Given the description of an element on the screen output the (x, y) to click on. 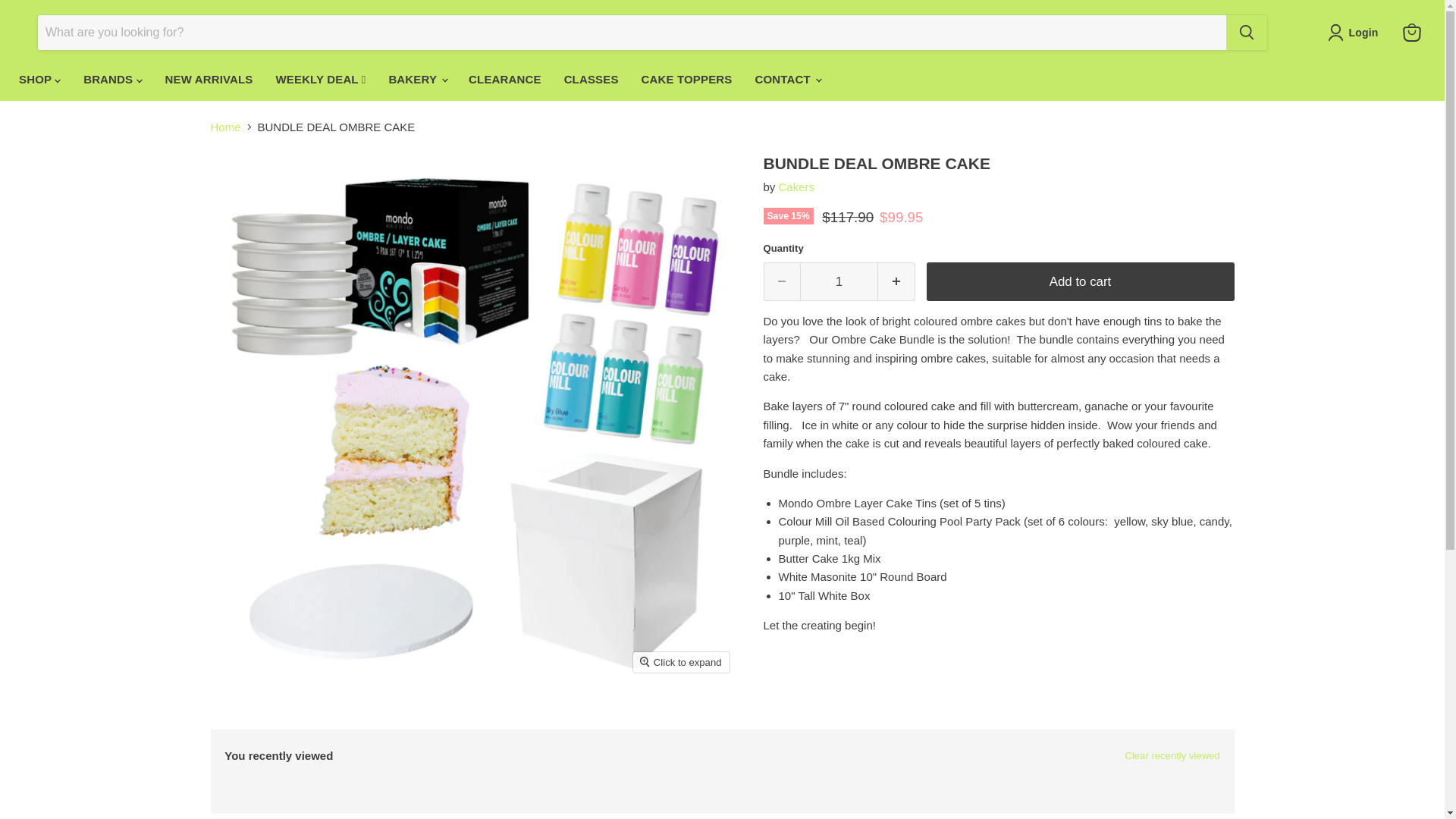
View cart (1411, 47)
Cakers (796, 216)
1 (838, 311)
Login (1355, 47)
